Given the description of an element on the screen output the (x, y) to click on. 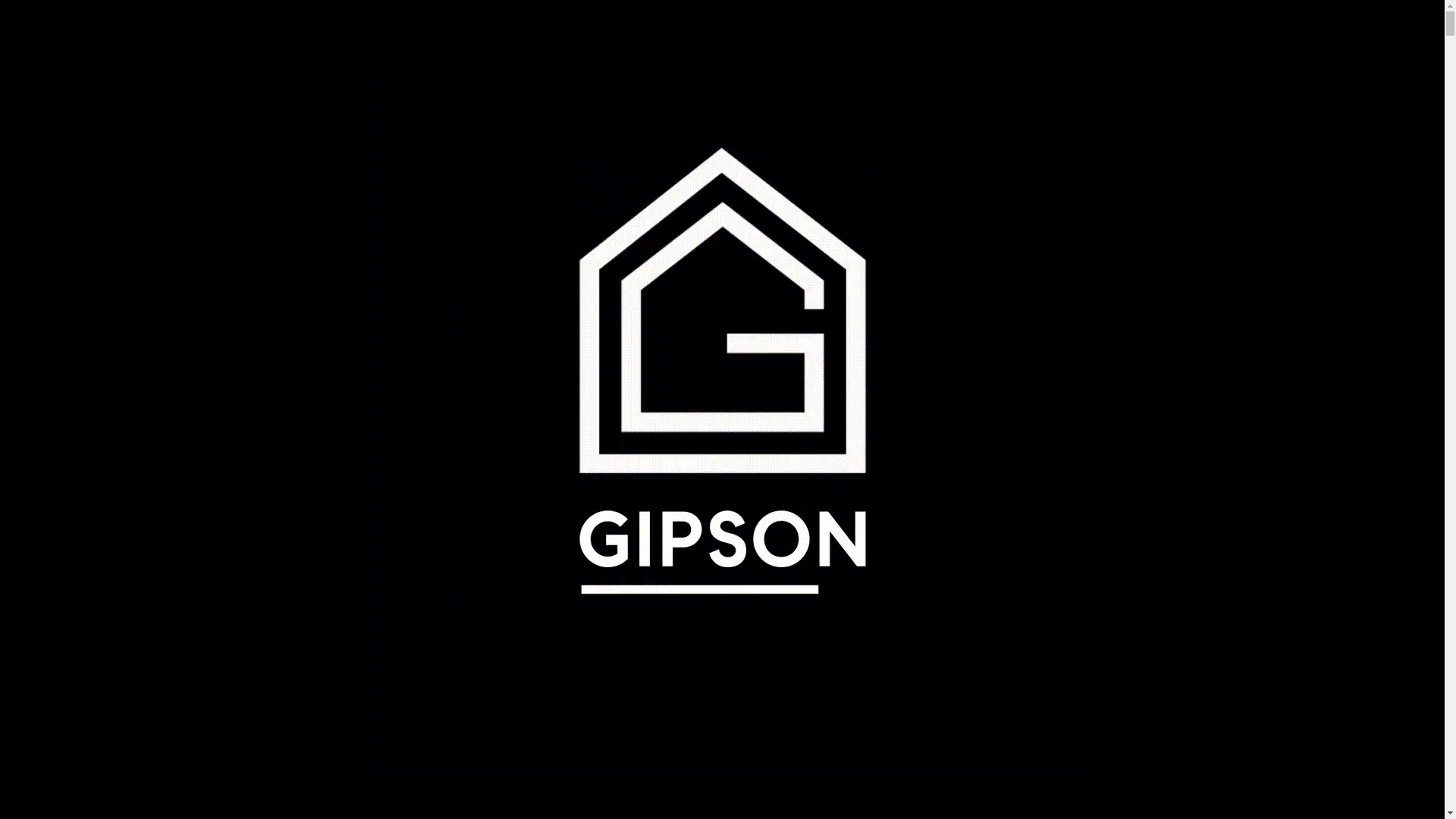
Menu (197, 35)
Contact Us (1121, 35)
Menu (187, 35)
Featured Properties (297, 35)
